Given the description of an element on the screen output the (x, y) to click on. 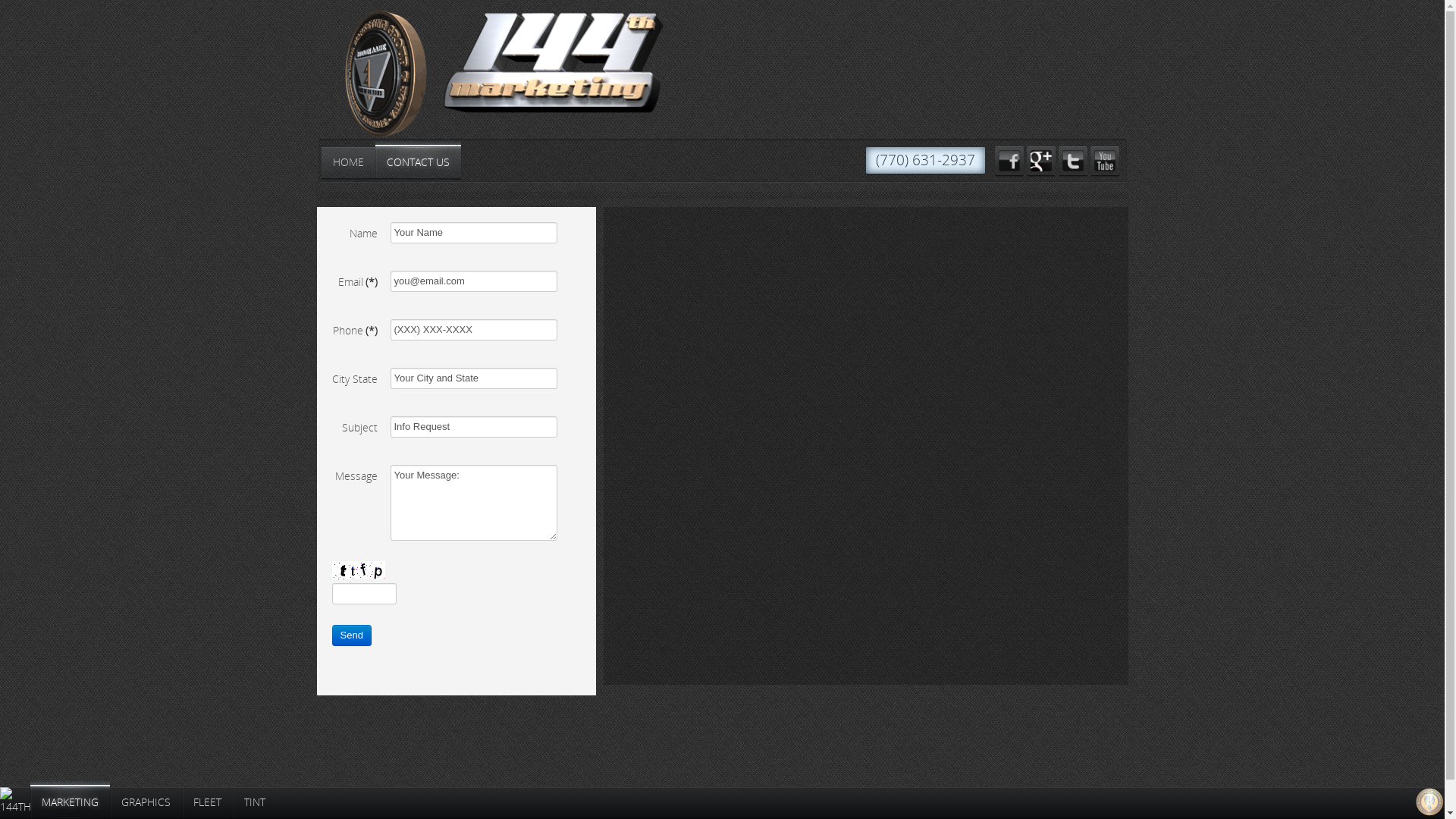
GRAPHICS Element type: text (145, 802)
144th Marketing Group Element type: hover (553, 62)
HOME Element type: text (348, 162)
Send Element type: text (351, 635)
CONTACT US Element type: text (417, 162)
TINT Element type: text (254, 802)
FLEET Element type: text (207, 802)
144th 3D Coin Element type: hover (371, 77)
(770) 631-2937 Element type: text (925, 160)
MARKETING Element type: text (69, 802)
